Given the description of an element on the screen output the (x, y) to click on. 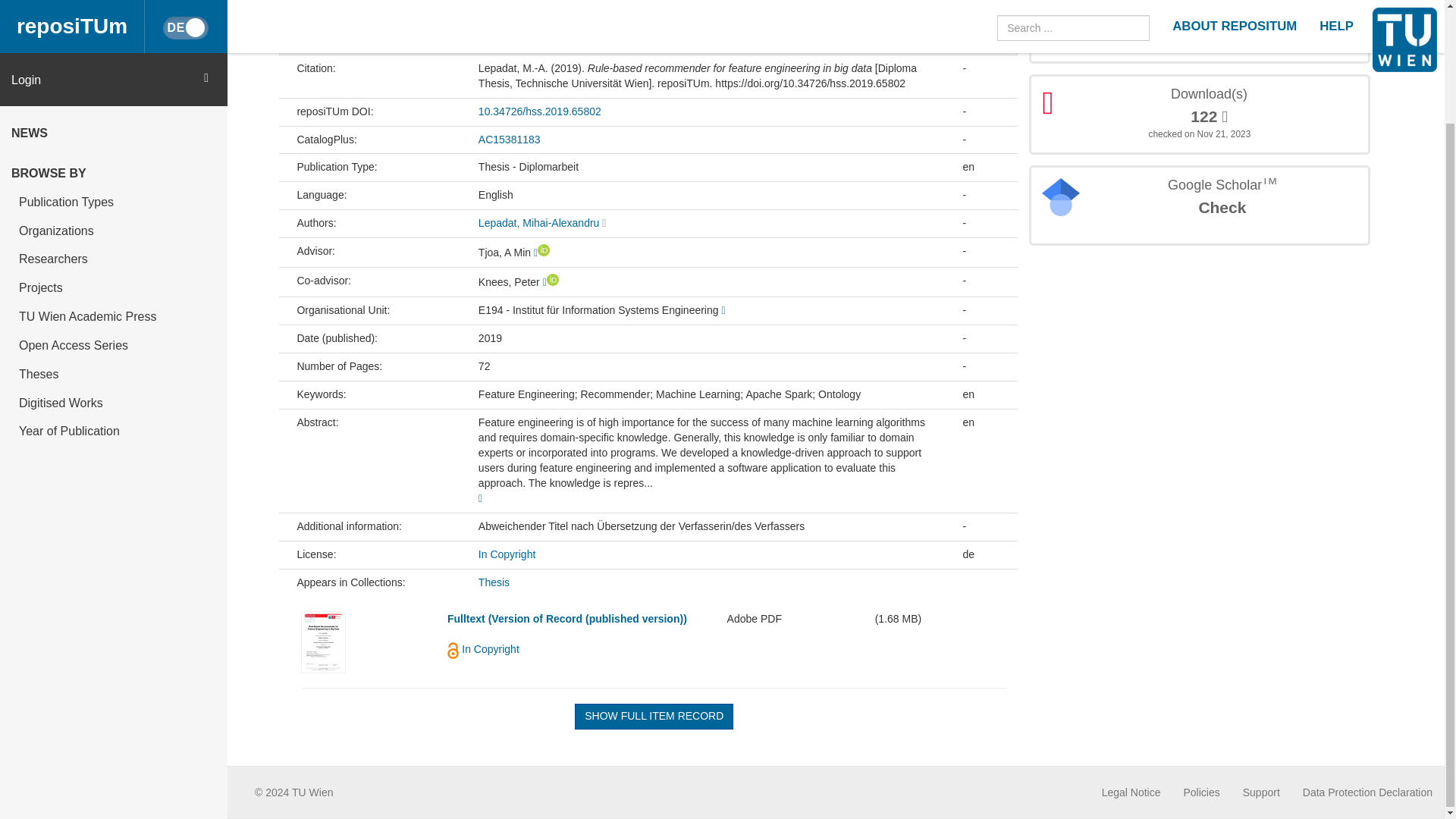
AC15381183 (509, 138)
385 (1208, 25)
Theses (114, 238)
Check (1221, 207)
Lepadat, Mihai-Alexandru (539, 223)
SHOW FULL ITEM RECORD (654, 716)
Digitised Works (114, 267)
Organizations (114, 95)
In Copyright (507, 553)
BROWSE BY (114, 37)
